Given the description of an element on the screen output the (x, y) to click on. 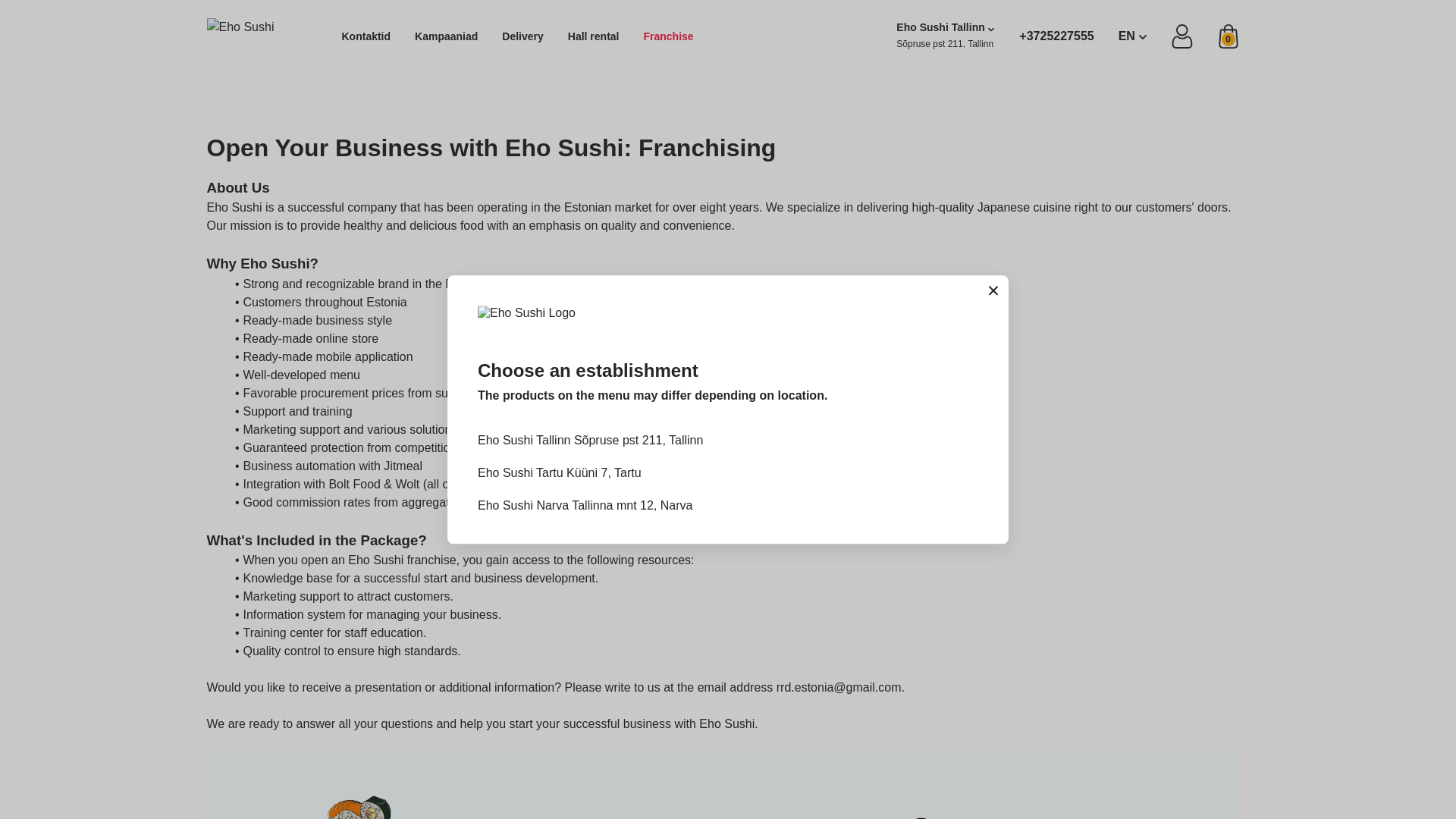
Franchise (668, 36)
EN (1131, 36)
Delivery (522, 36)
Kampaaniad (445, 36)
Hall rental (593, 36)
Kontaktid (365, 36)
